Given the description of an element on the screen output the (x, y) to click on. 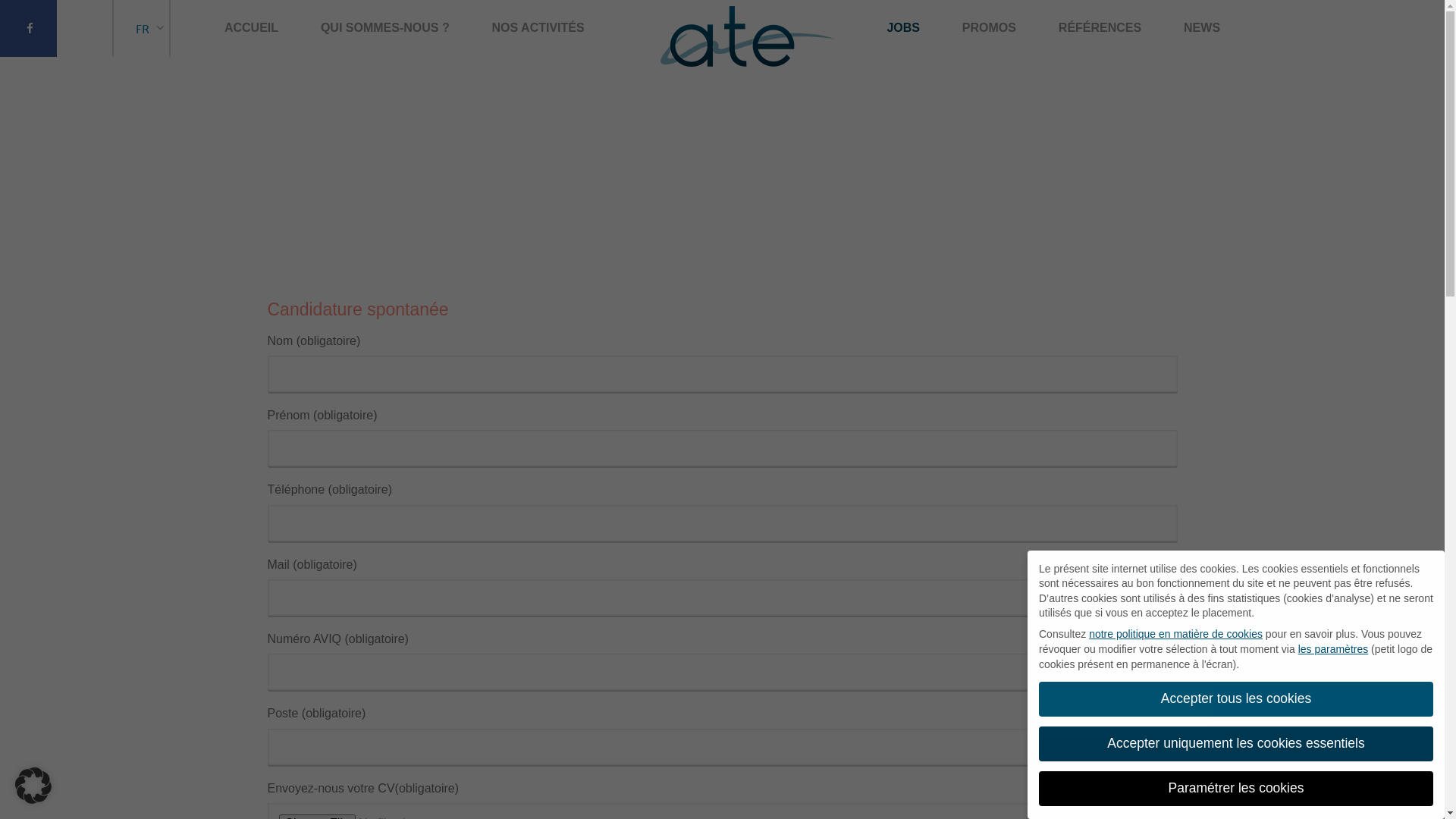
QUI SOMMES-NOUS ? Element type: text (384, 27)
CONTACT Element type: text (722, 40)
E-shop en construction Element type: text (1307, 249)
Accepter tous les cookies Element type: text (1235, 698)
JOBS Element type: text (902, 27)
Accepter uniquement les cookies essentiels Element type: text (1235, 743)
FR Element type: text (141, 28)
NEWS Element type: text (1201, 27)
ACCUEIL Element type: text (251, 27)
PROMOS Element type: text (989, 27)
